Given the description of an element on the screen output the (x, y) to click on. 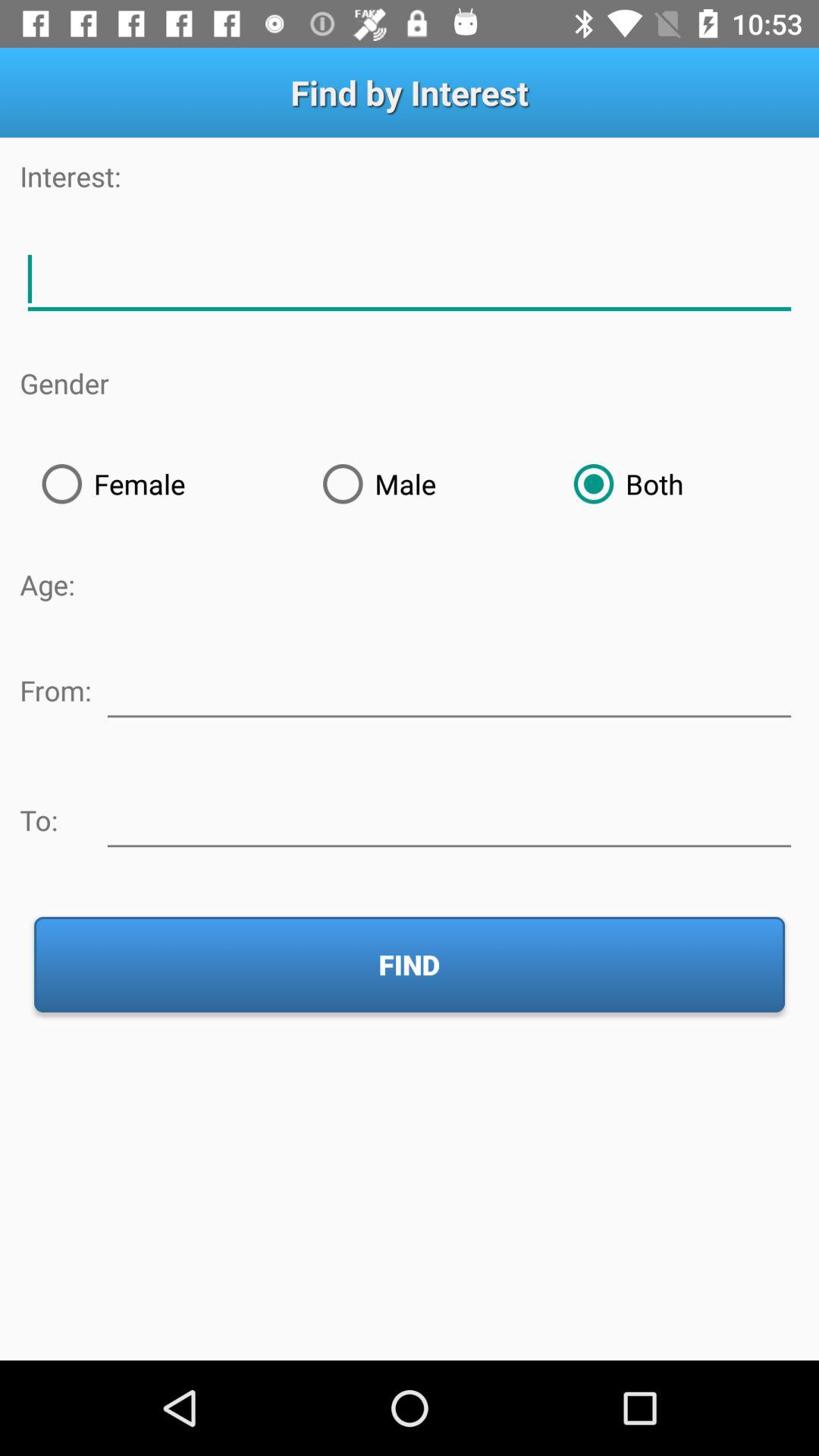
launch female item (160, 483)
